Given the description of an element on the screen output the (x, y) to click on. 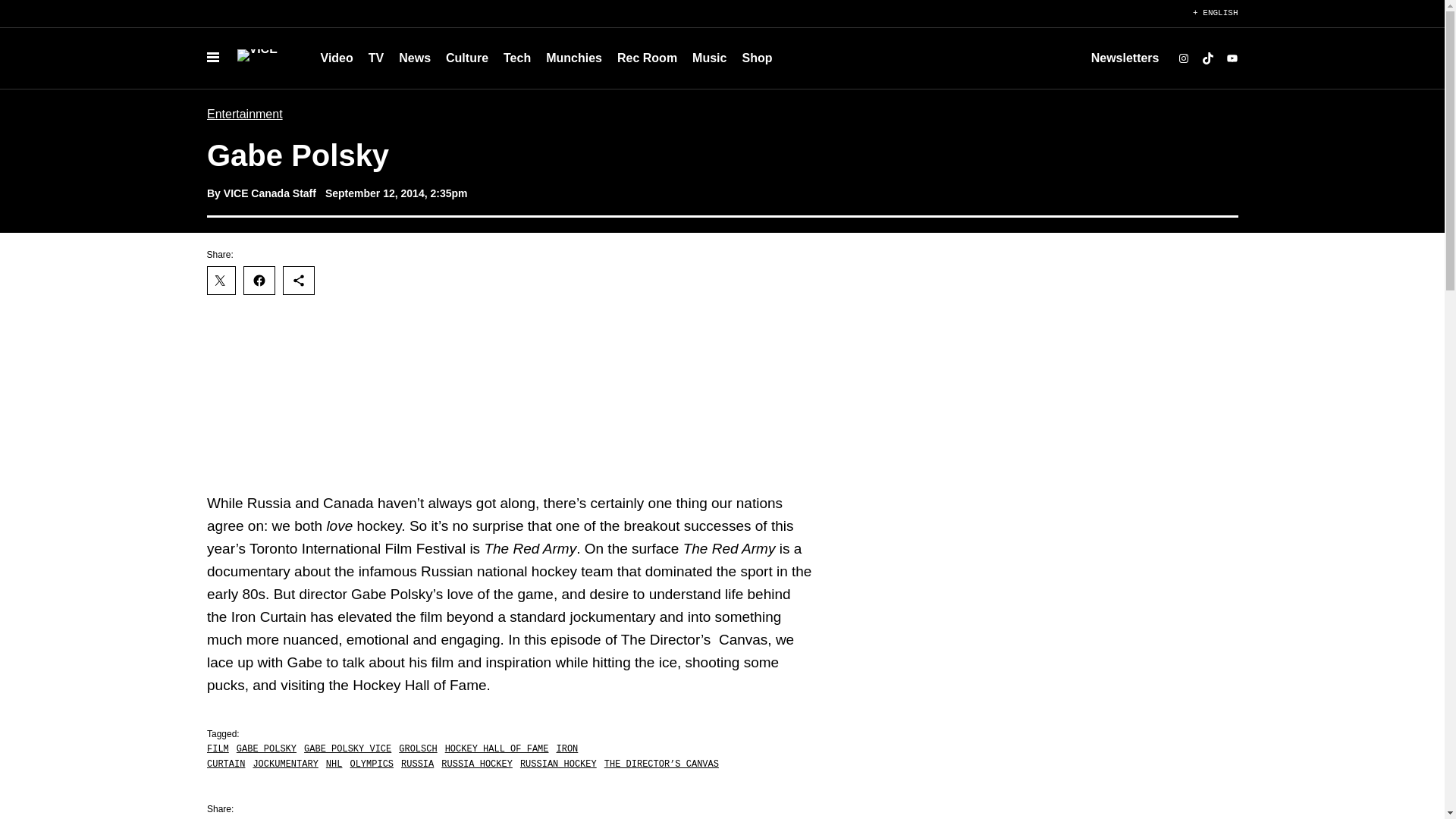
TV (376, 58)
Open Menu (211, 58)
Newsletters (1124, 57)
Culture (467, 58)
Munchies (574, 58)
Instagram (1182, 58)
News (414, 58)
YouTube (1231, 58)
Video (336, 58)
Tech (517, 58)
